Given the description of an element on the screen output the (x, y) to click on. 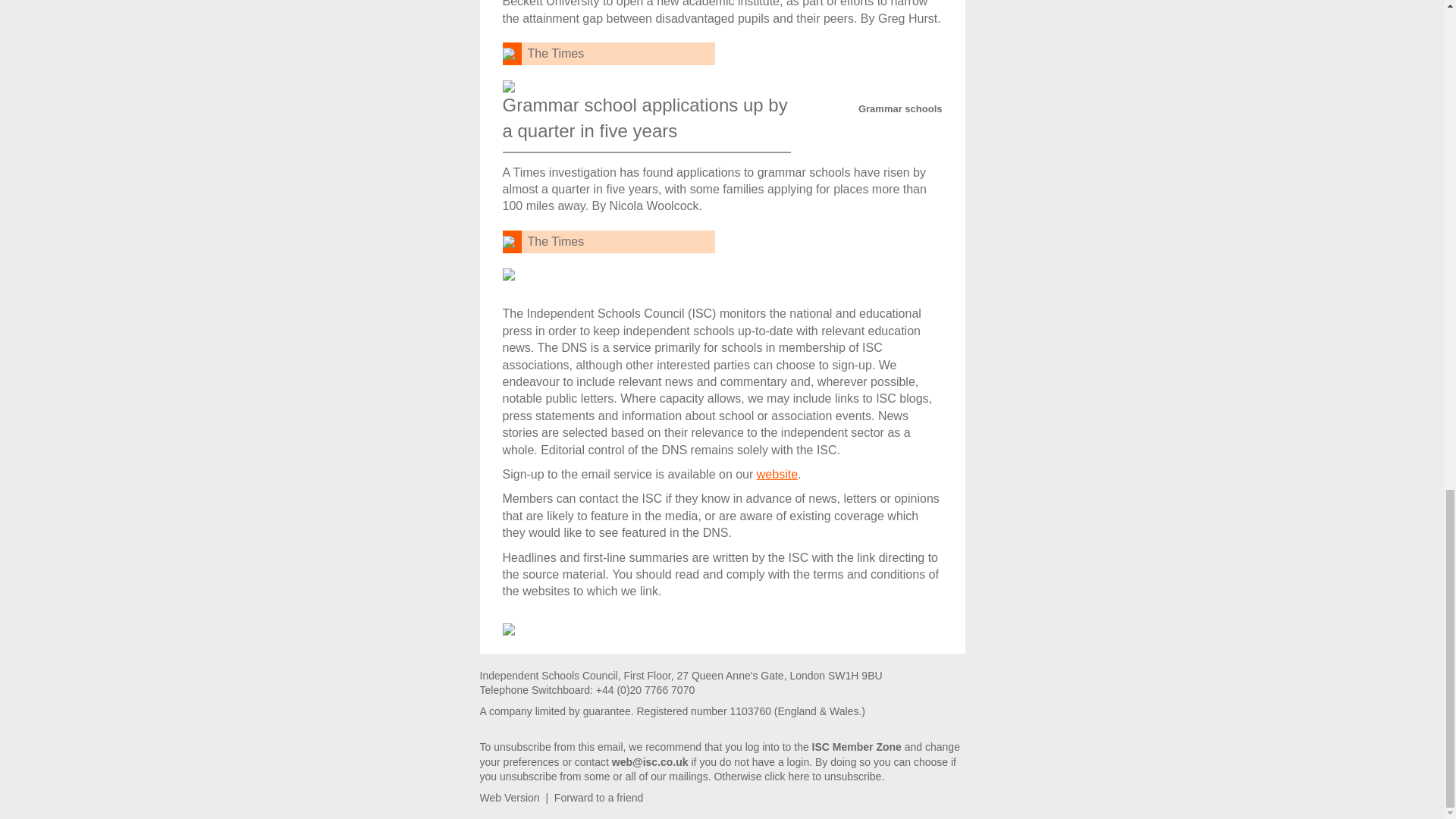
The Times (556, 241)
ISC Member Zone (856, 746)
The Times (556, 52)
website (777, 473)
